Given the description of an element on the screen output the (x, y) to click on. 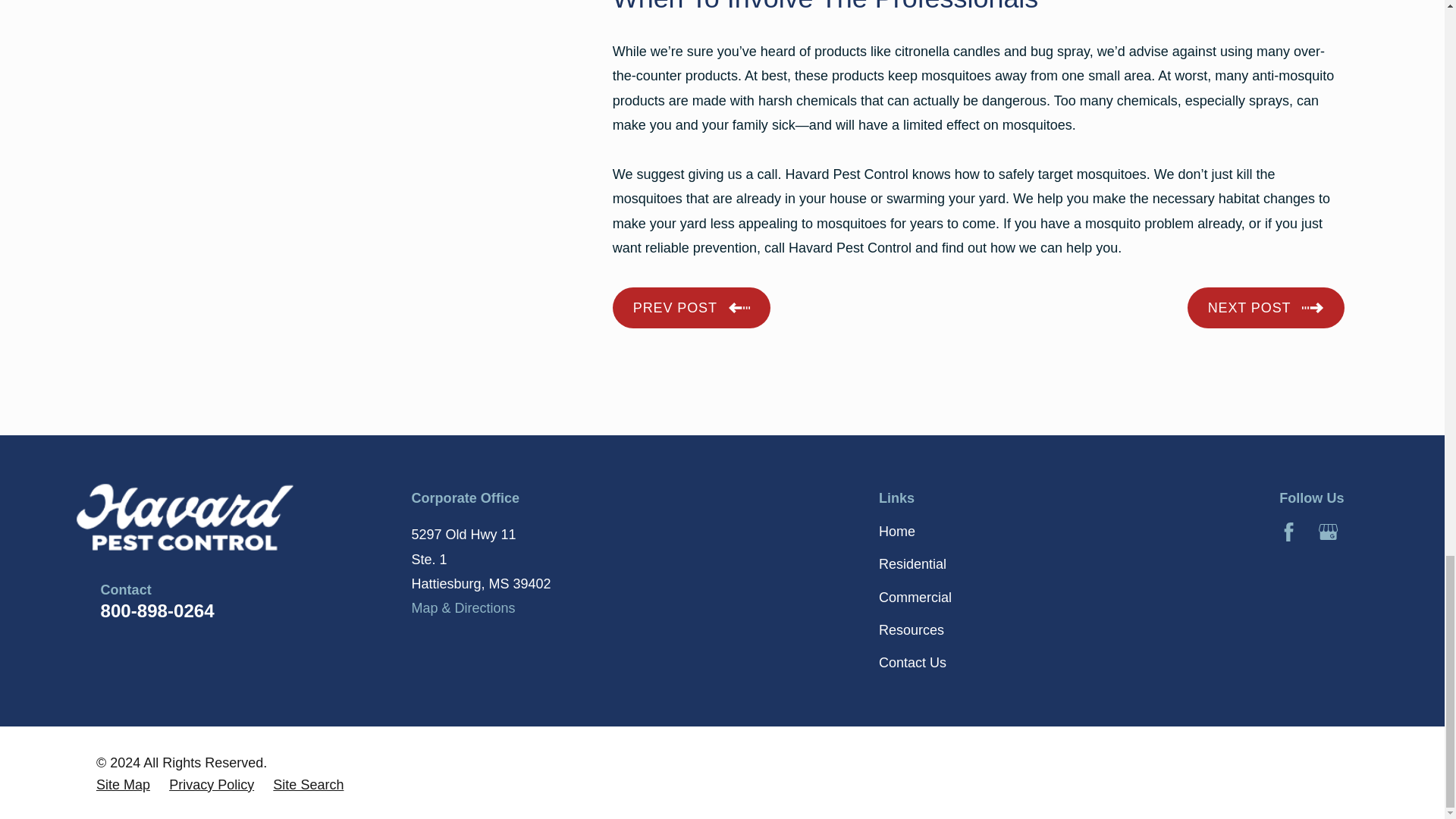
Havard Pest Control (170, 512)
Google Business Profile (1328, 531)
Home (232, 512)
Facebook (1288, 531)
